Given the description of an element on the screen output the (x, y) to click on. 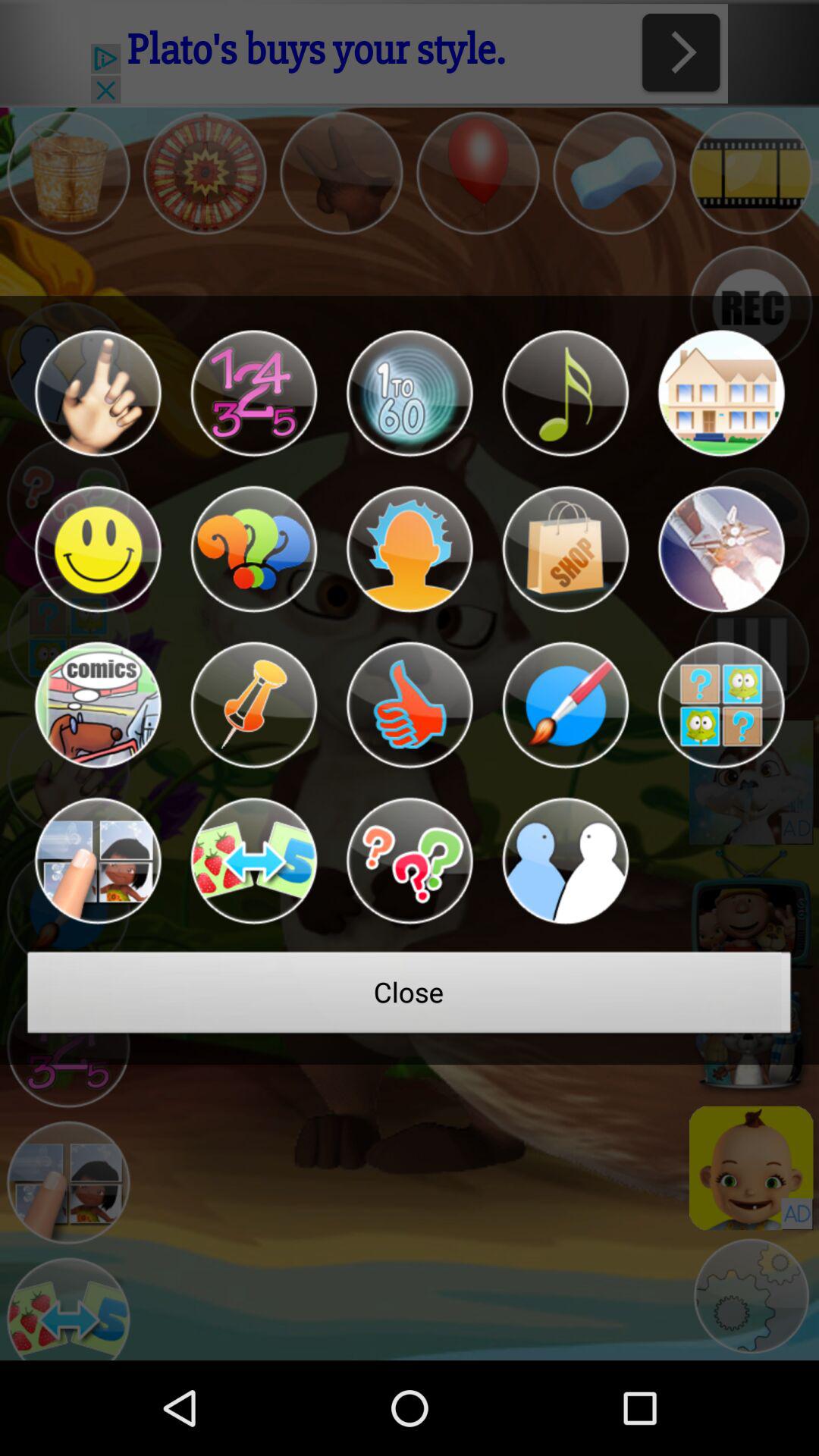
open a hairstyle menu (409, 549)
